Given the description of an element on the screen output the (x, y) to click on. 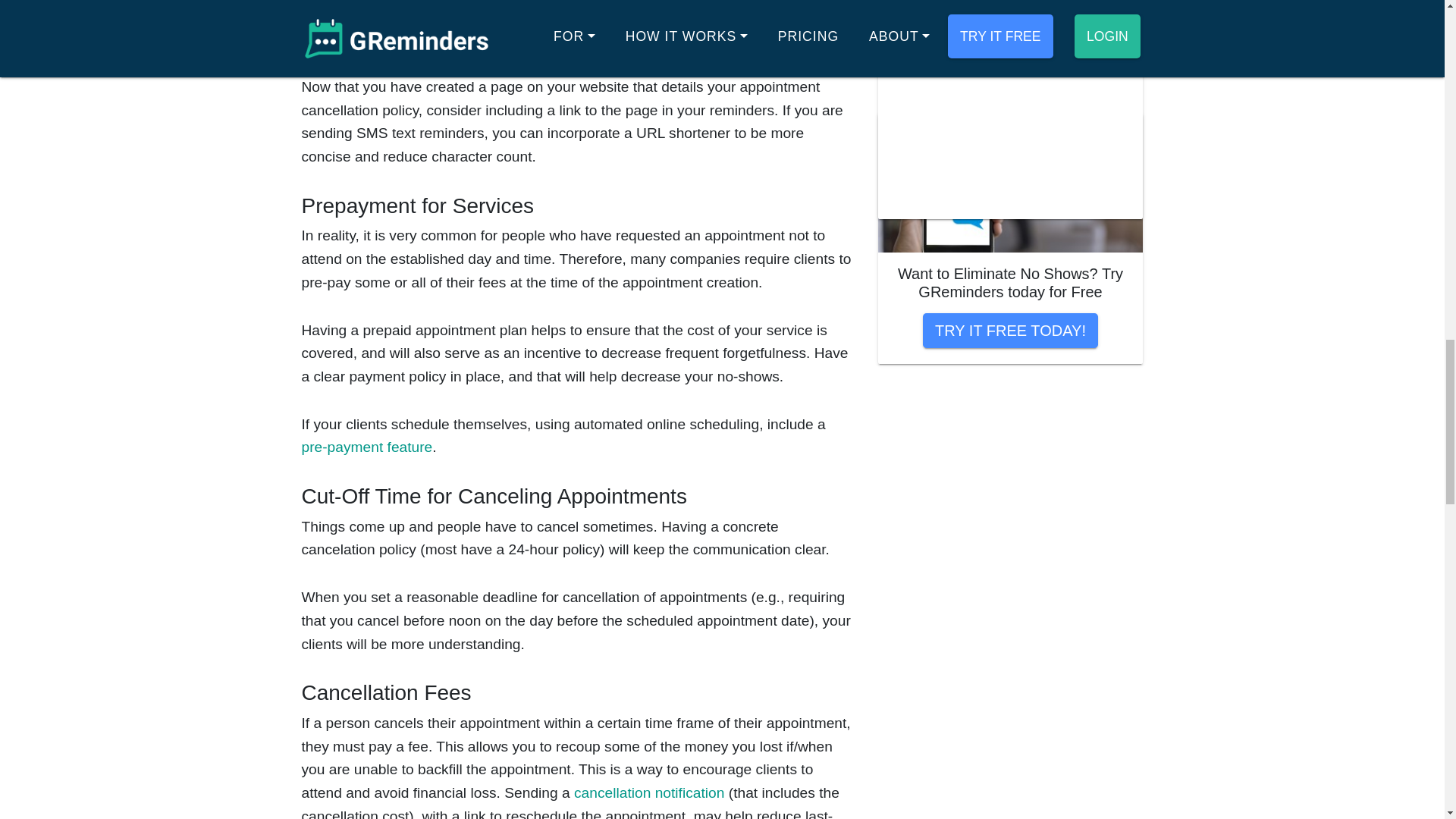
cancellation notification (648, 792)
pre-payment feature (366, 446)
